Given the description of an element on the screen output the (x, y) to click on. 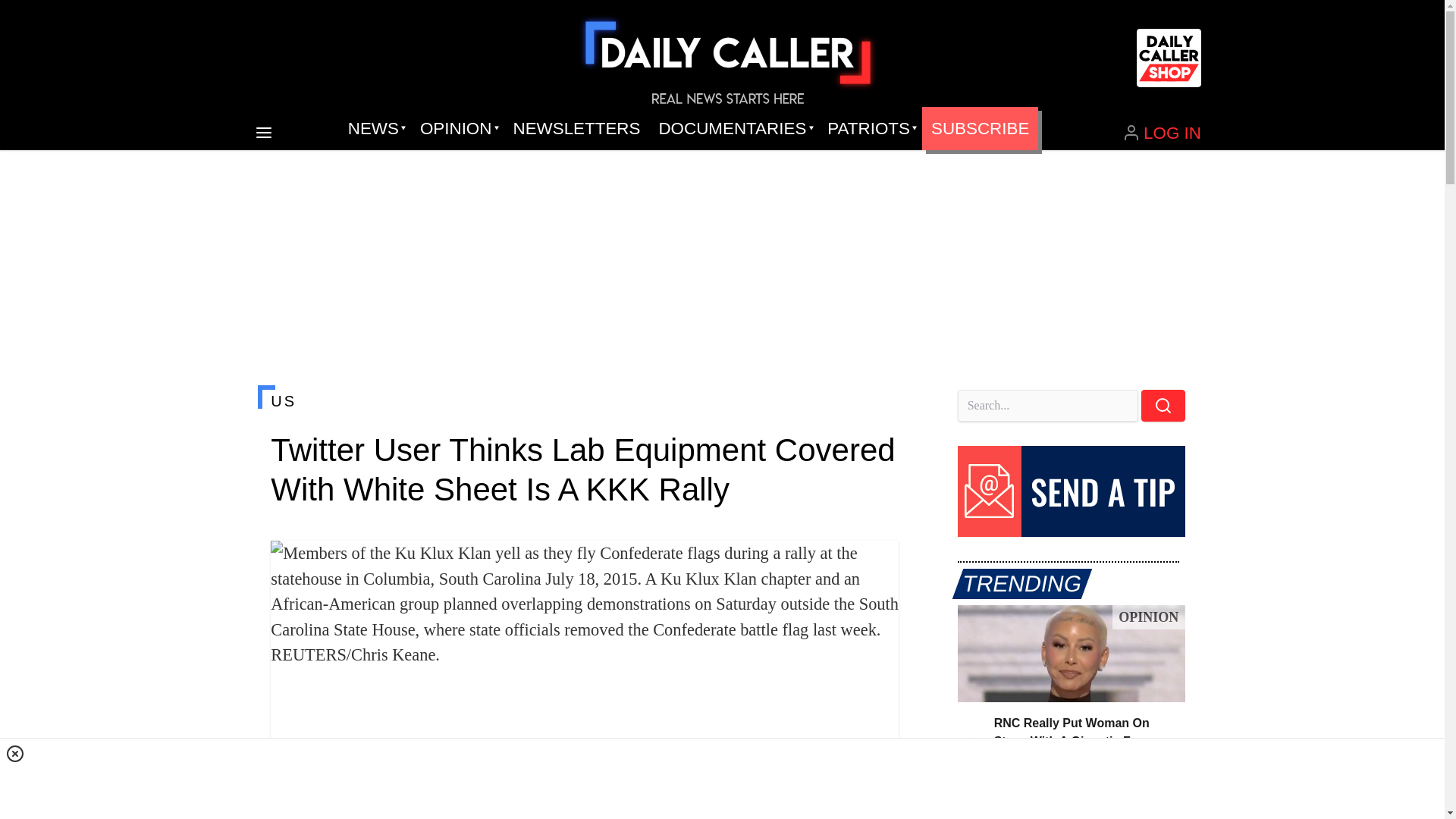
US (584, 400)
NEWSLETTERS (576, 128)
Close window (14, 753)
DOCUMENTARIES (733, 128)
Toggle fullscreen (874, 563)
NEWS (374, 128)
RNC Really Put Woman On Stage With A Gigantic Face Tattoo (1071, 653)
OPINION (456, 128)
SUBSCRIBE (979, 128)
3rd party ad content (722, 778)
PATRIOTS (869, 128)
